Given the description of an element on the screen output the (x, y) to click on. 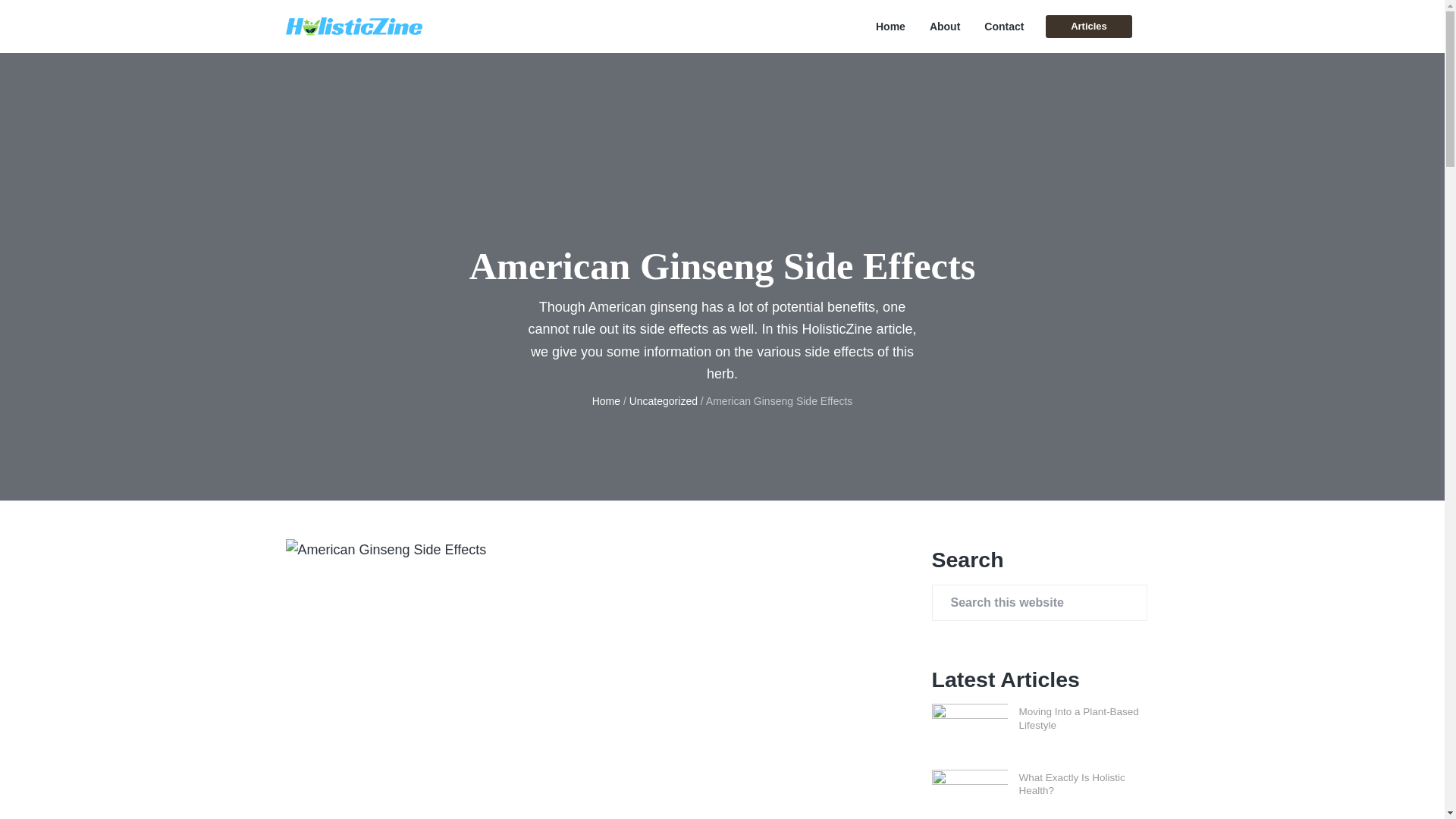
What Exactly Is Holistic Health? (1072, 784)
Articles (1087, 25)
Contact (1003, 27)
Home (606, 400)
Moving Into a Plant-Based Lifestyle (1078, 718)
Uncategorized (662, 400)
About (944, 27)
Home (890, 27)
Search (60, 18)
